Given the description of an element on the screen output the (x, y) to click on. 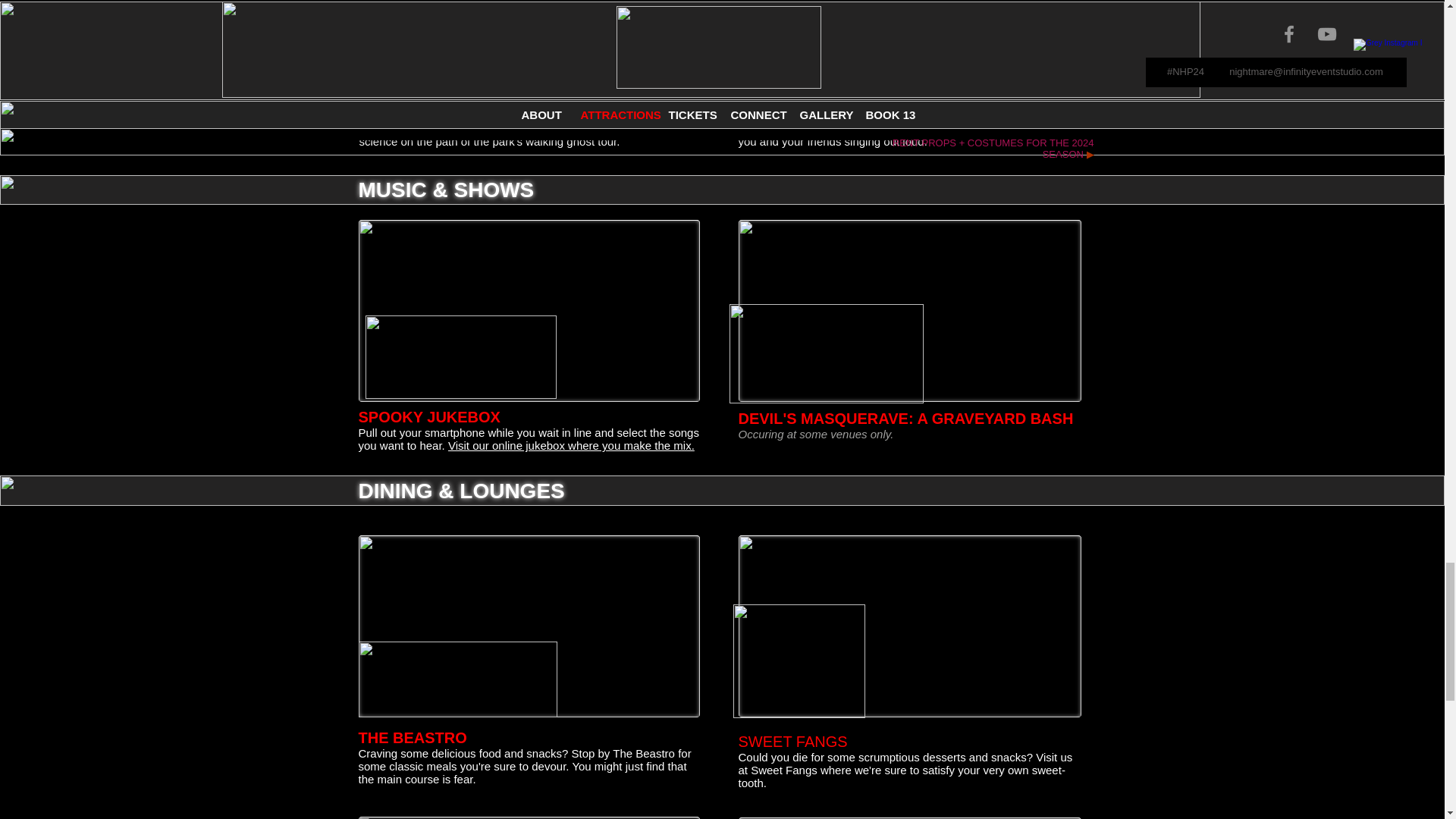
beastro1.png (457, 679)
Visit our online jukebox where you make the mix. (571, 445)
